Given the description of an element on the screen output the (x, y) to click on. 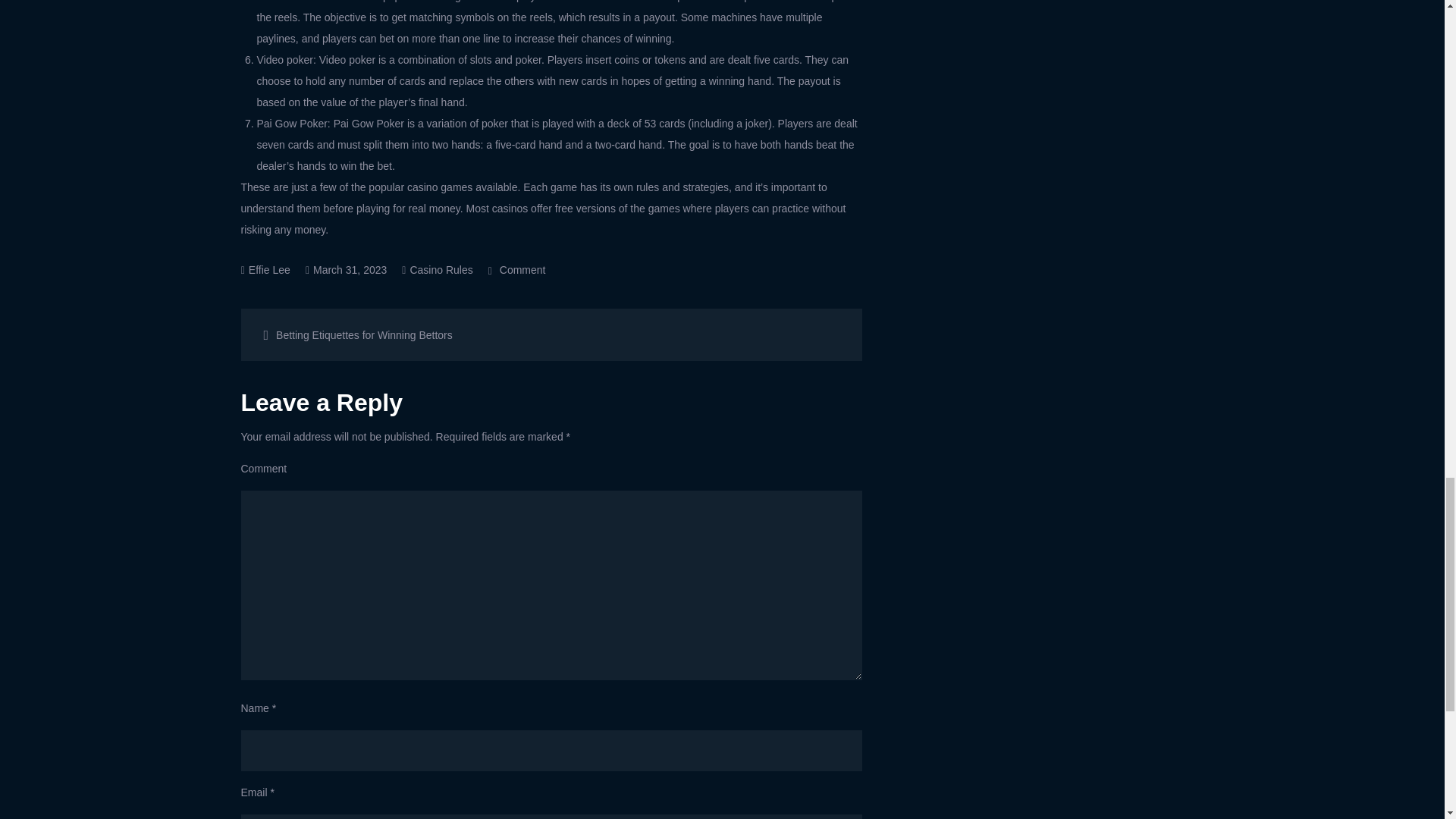
Effie Lee (268, 269)
Casino Rules (440, 269)
Betting Etiquettes for Winning Bettors (516, 269)
March 31, 2023 (397, 334)
